Given the description of an element on the screen output the (x, y) to click on. 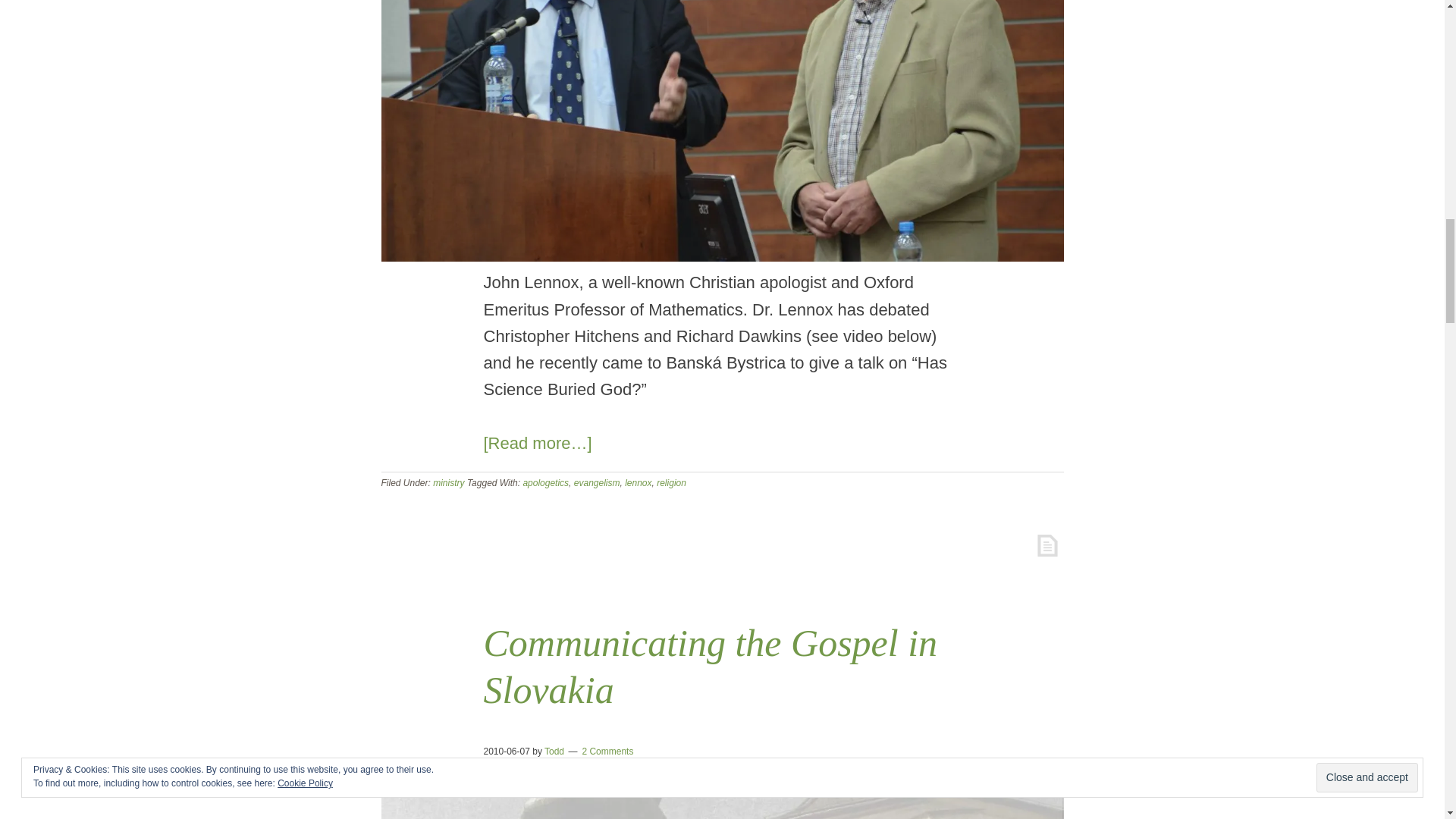
lennox (637, 482)
ministry (448, 482)
Todd (554, 751)
religion (670, 482)
apologetics (545, 482)
Communicating the Gospel in Slovakia (710, 666)
2 Comments (606, 751)
evangelism (596, 482)
